Given the description of an element on the screen output the (x, y) to click on. 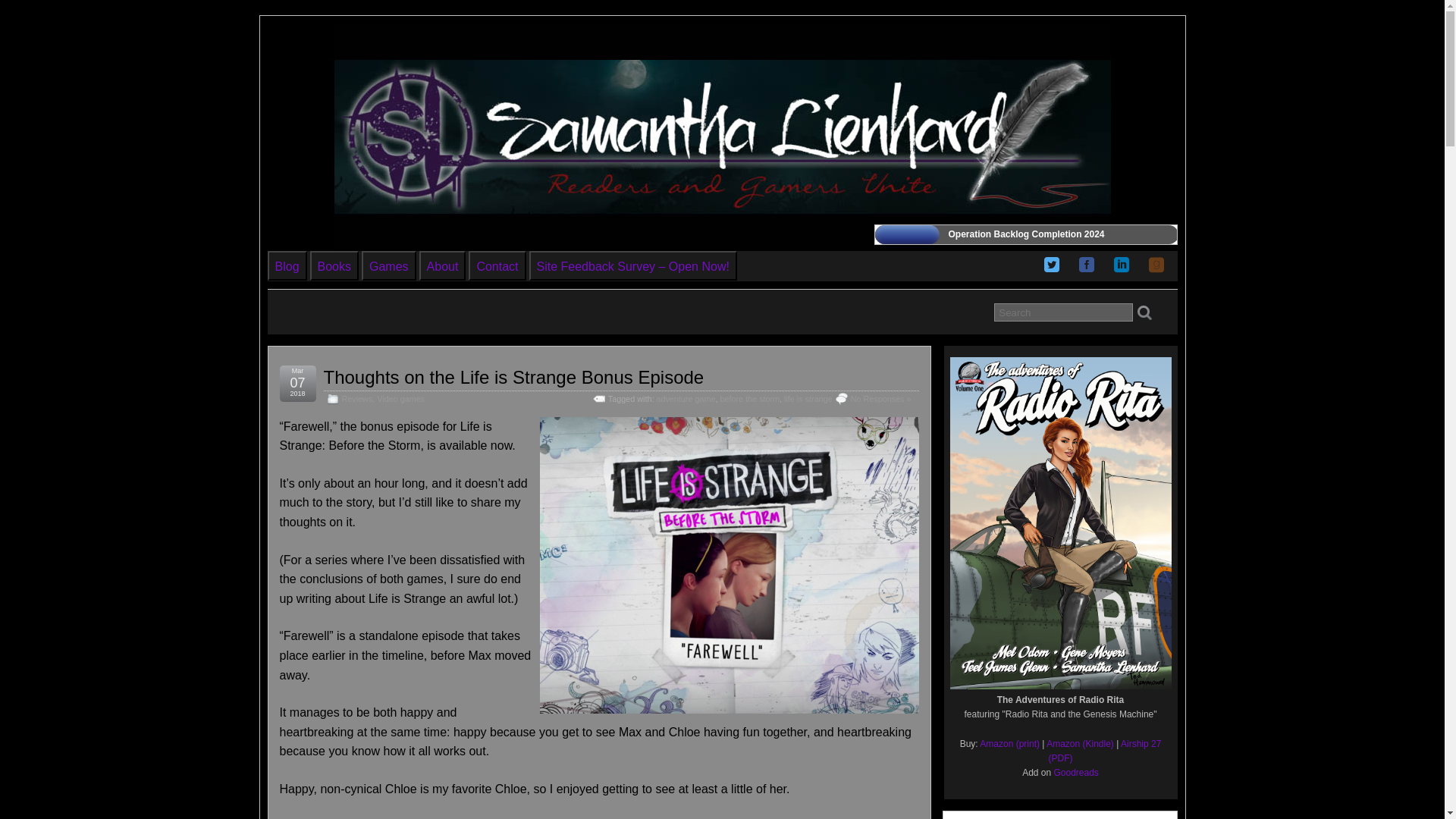
life is strange (808, 398)
adventure game (685, 398)
Games (388, 265)
Thoughts on the Life is Strange Bonus Episode (513, 376)
Thoughts on the Life is Strange Bonus Episode (513, 376)
Video games (401, 398)
Blog (286, 265)
before the storm (748, 398)
About (442, 265)
Reviews (356, 398)
